Given the description of an element on the screen output the (x, y) to click on. 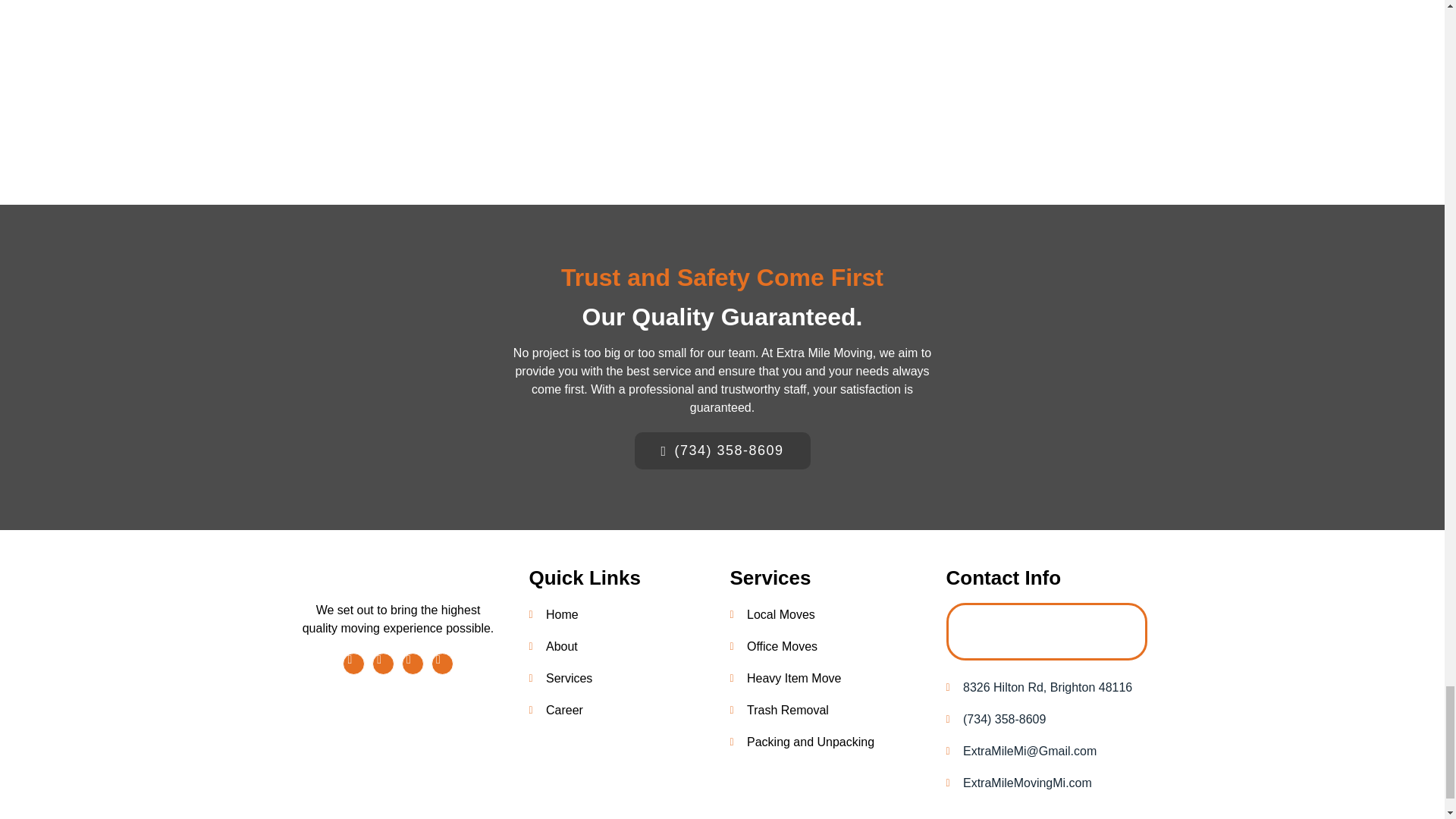
8326 hilton rd Brighton mi48116 (1045, 631)
